Given the description of an element on the screen output the (x, y) to click on. 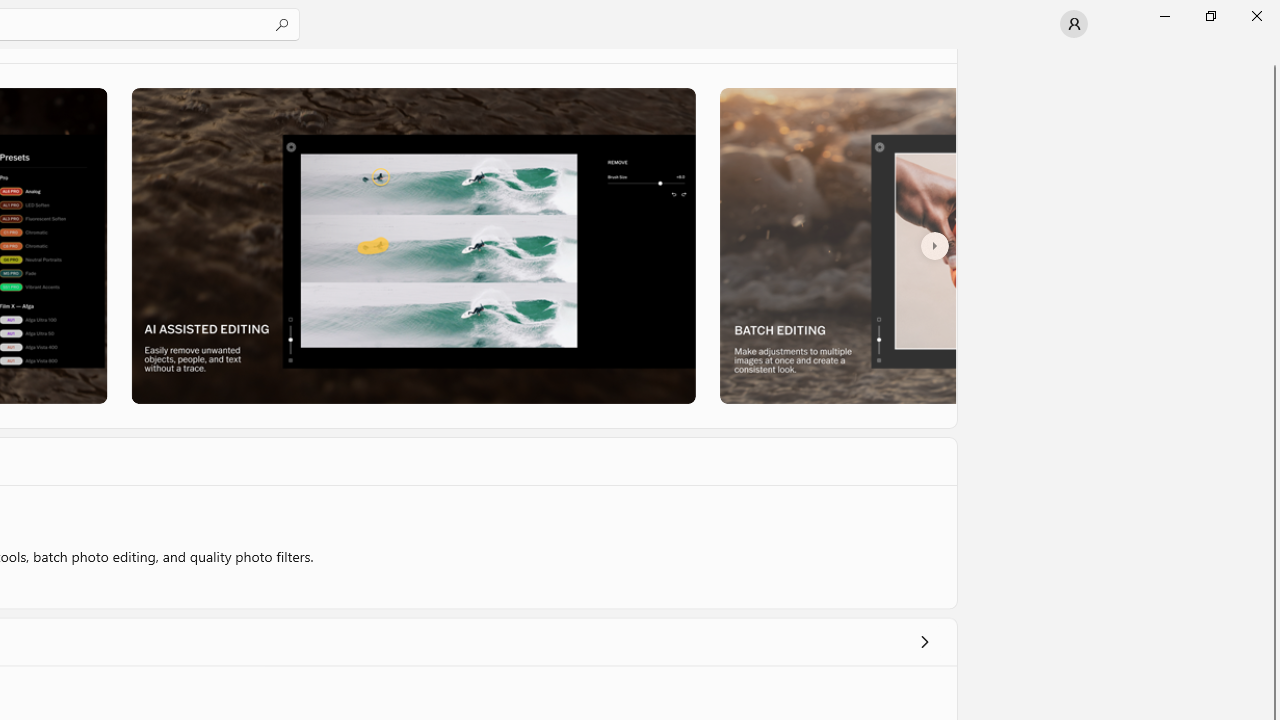
Close Microsoft Store (1256, 15)
Restore Microsoft Store (1210, 15)
Show all ratings and reviews (924, 200)
Vertical Small Decrease (1272, 55)
No, this was not helpful. 14 votes. (864, 421)
Yes, this was helpful. 10 votes. (797, 421)
Report review (917, 422)
User profile (1073, 24)
Vertical Large Decrease (1272, 236)
Minimize Microsoft Store (1164, 15)
